Given the description of an element on the screen output the (x, y) to click on. 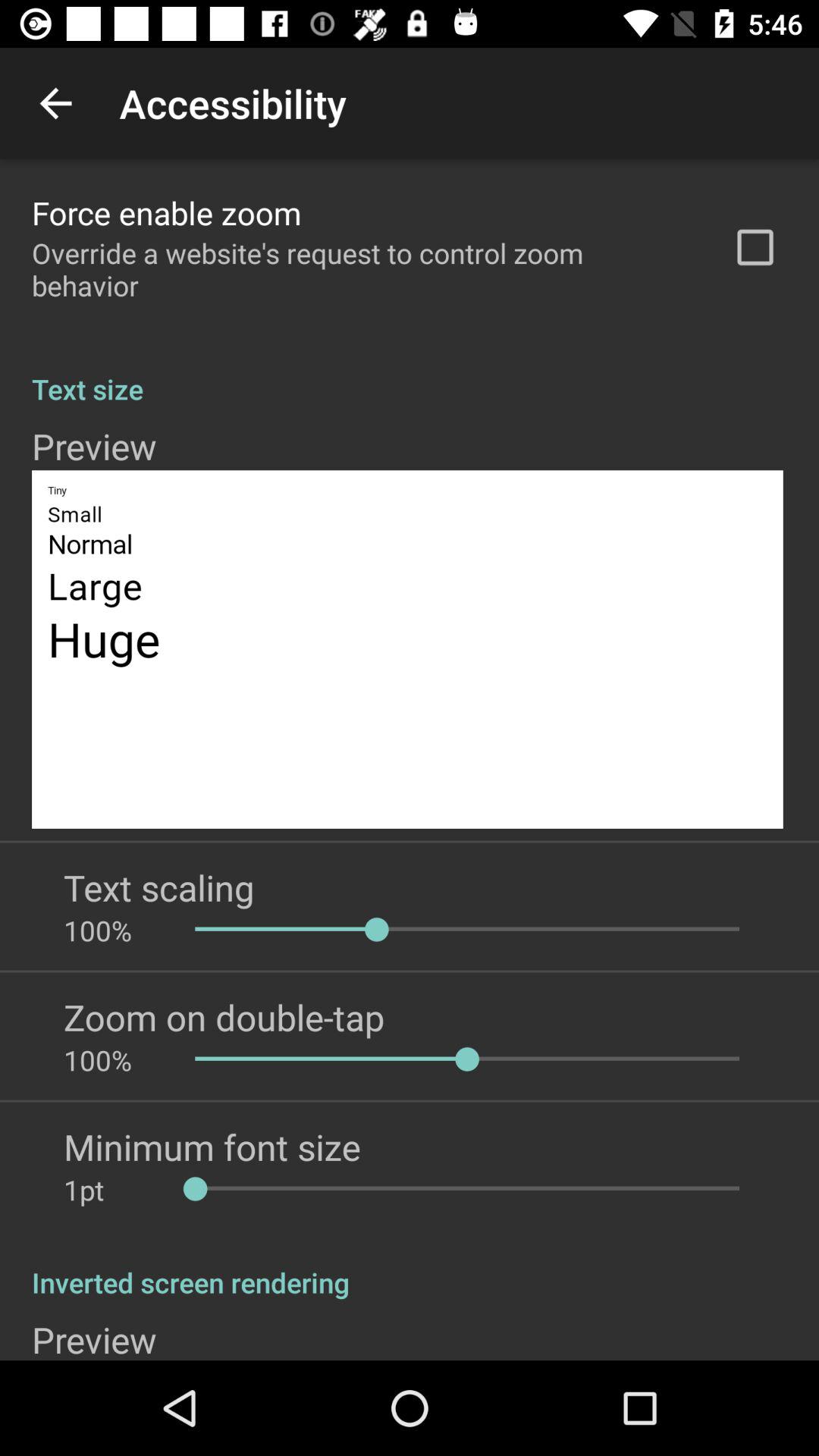
select app above 100% icon (223, 1017)
